Given the description of an element on the screen output the (x, y) to click on. 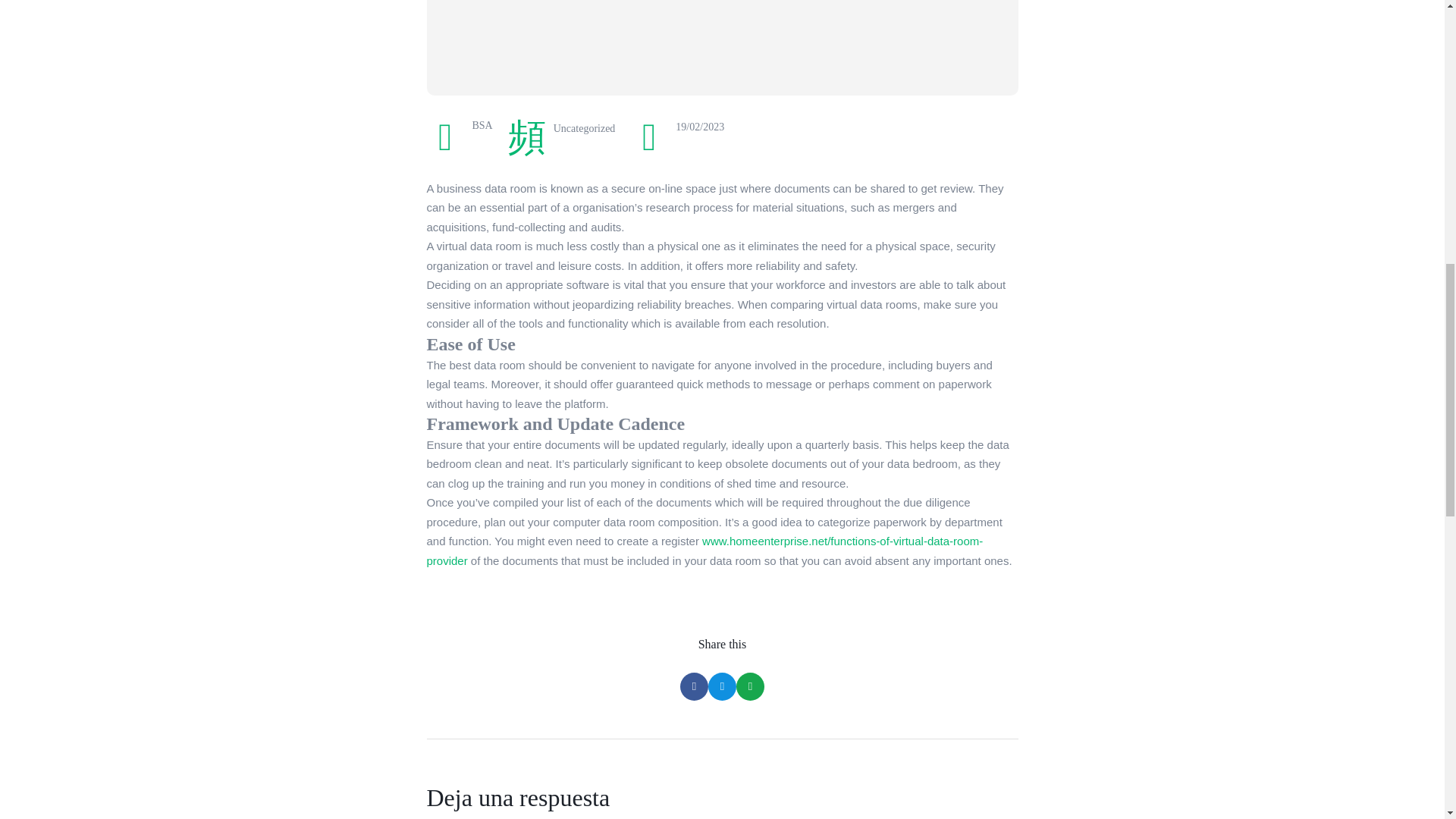
Uncategorized (584, 128)
